Given the description of an element on the screen output the (x, y) to click on. 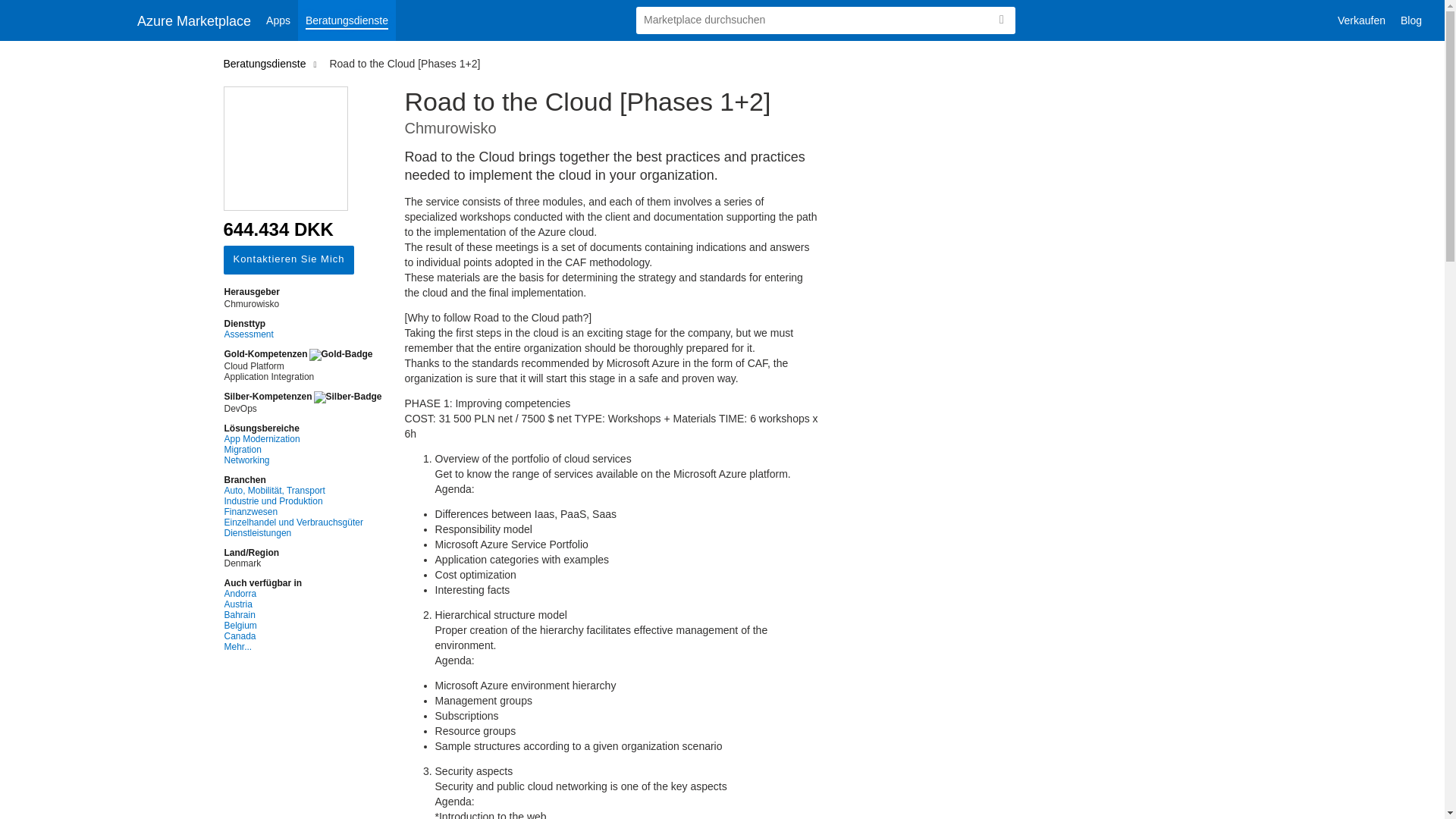
Bahrain (302, 614)
Assessment (302, 334)
App Modernization (302, 439)
Dienstleistungen (302, 532)
Canada (302, 635)
Azure Marketplace (194, 20)
Andorra (302, 593)
Industrie und Produktion (302, 501)
Finanzwesen (302, 511)
Beratungsdienste (347, 20)
Beratungsdienste (267, 63)
Blog (1411, 20)
Kontaktieren Sie Mich (287, 259)
Austria (302, 603)
Apps (278, 20)
